Given the description of an element on the screen output the (x, y) to click on. 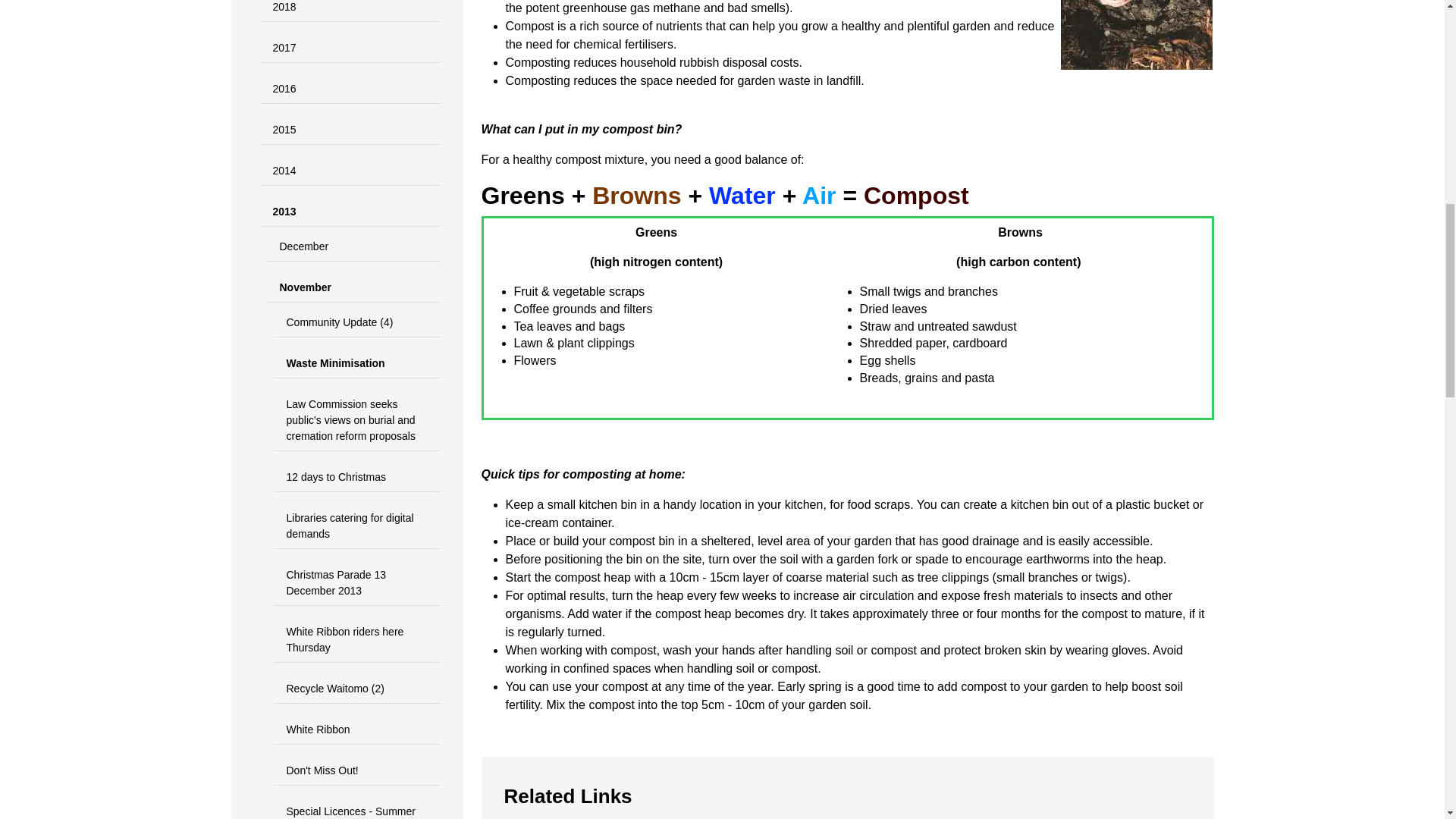
Composting at home (1135, 34)
